Given the description of an element on the screen output the (x, y) to click on. 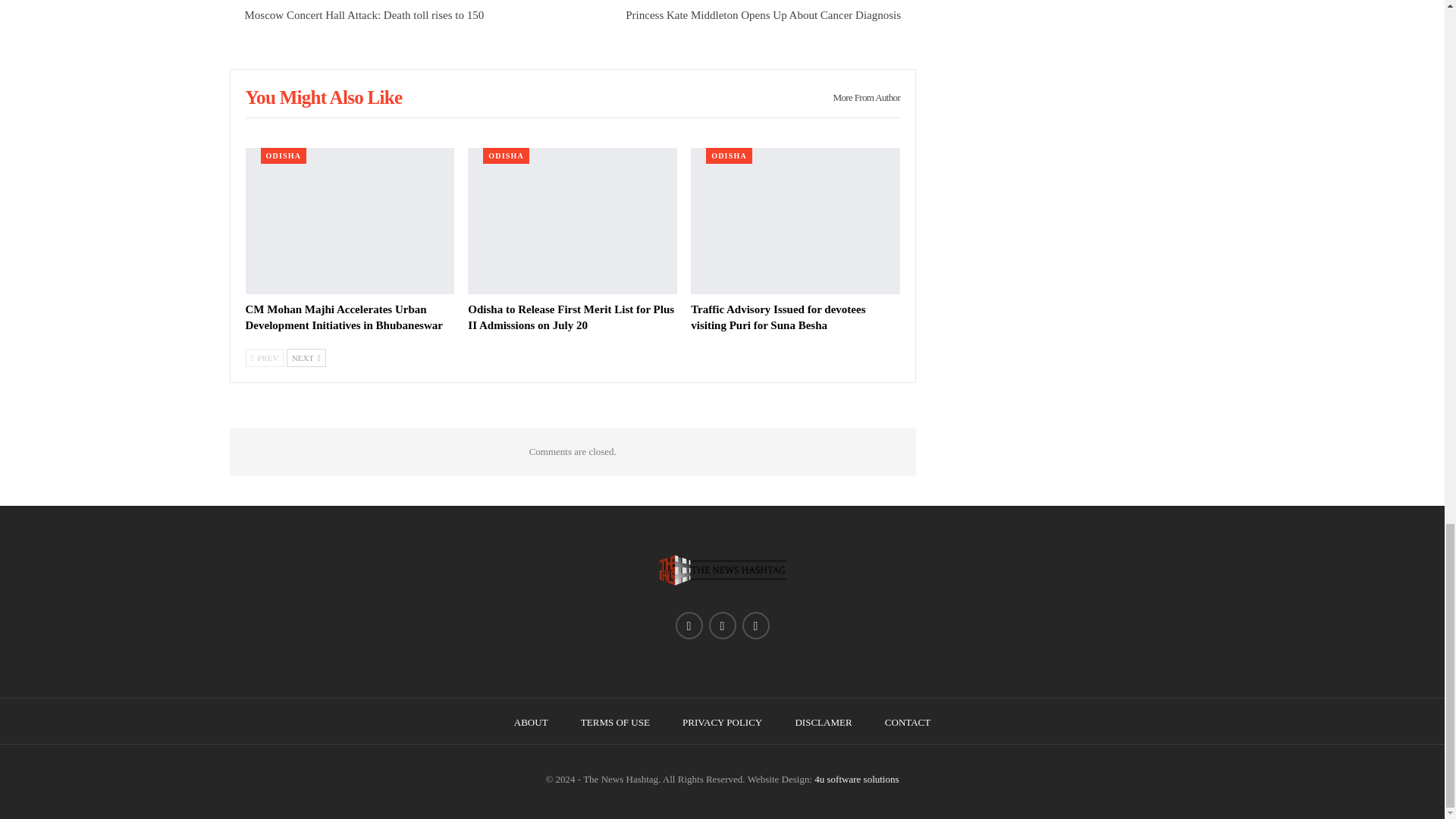
Next (306, 357)
Previous (264, 357)
